Given the description of an element on the screen output the (x, y) to click on. 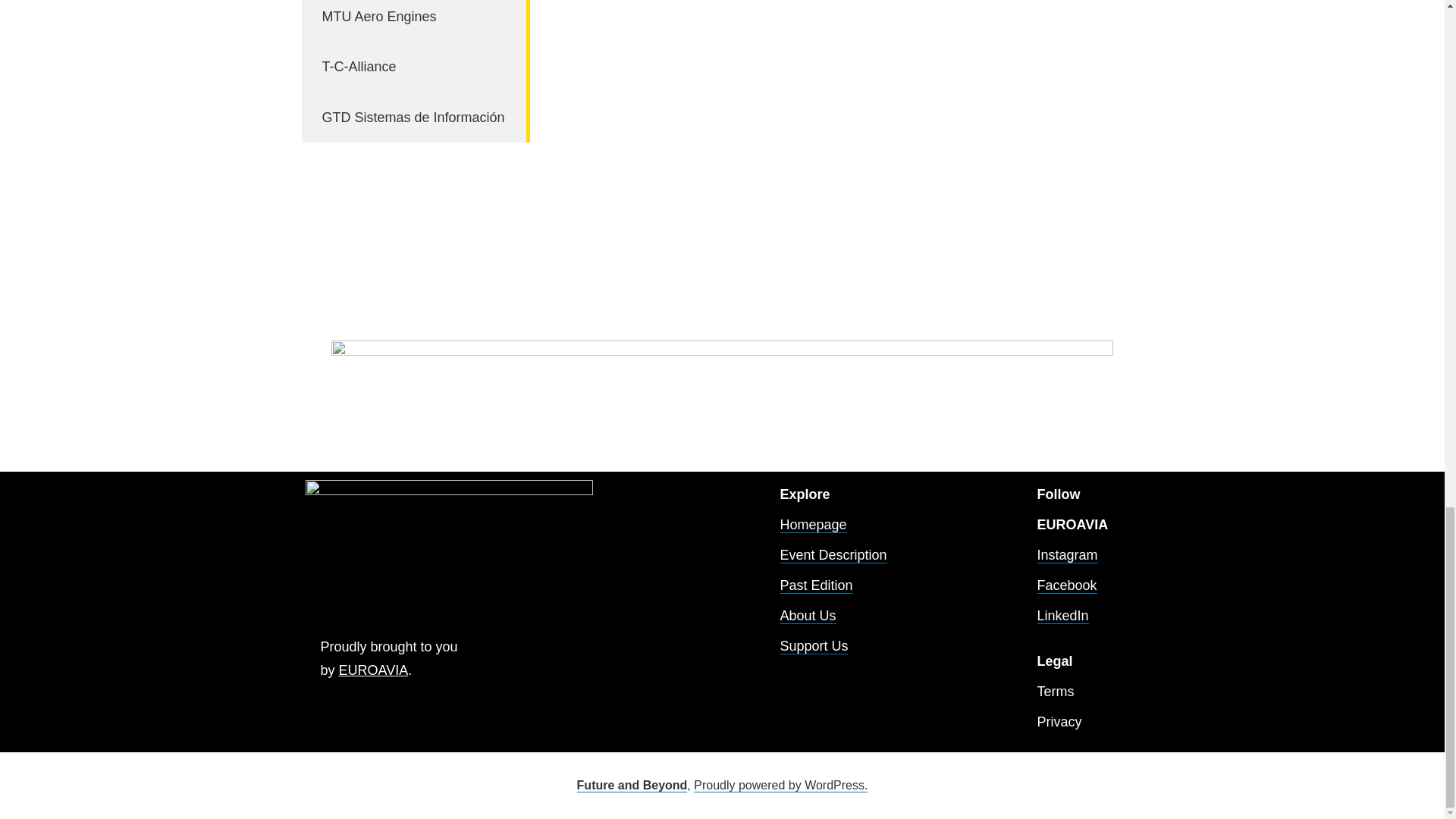
Facebook (1066, 585)
About Us (806, 616)
Homepage (811, 524)
Instagram (1066, 555)
Support Us (812, 646)
Event Description (832, 555)
Past Edition (814, 585)
